Given the description of an element on the screen output the (x, y) to click on. 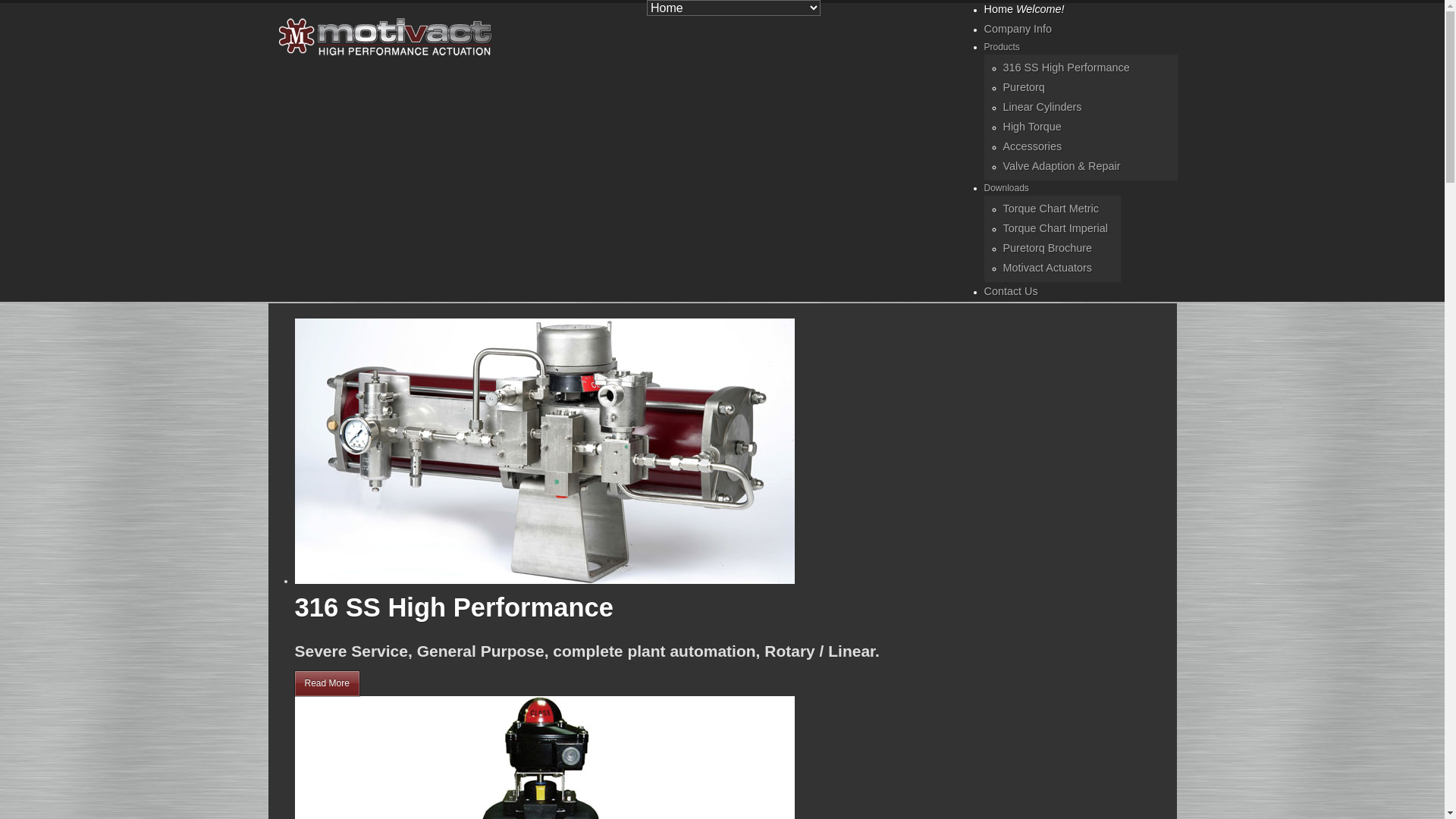
Linear Cylinders Element type: text (1041, 106)
Accessories Element type: text (1031, 146)
Company Info Element type: text (1018, 28)
316 SS High Performance Element type: text (1065, 67)
Contact Us Element type: text (1011, 291)
Valve Adaption & Repair Element type: text (1061, 166)
Motivact Actuators Element type: text (1047, 267)
Puretorq Element type: text (1023, 87)
Puretorq Brochure Element type: text (1047, 247)
Torque Chart Imperial Element type: text (1054, 228)
Torque Chart Metric Element type: text (1050, 208)
High Torque Element type: text (1031, 126)
Read More Element type: text (326, 683)
316 SS High Performance Element type: text (453, 607)
Home Welcome! Element type: text (1024, 9)
